Given the description of an element on the screen output the (x, y) to click on. 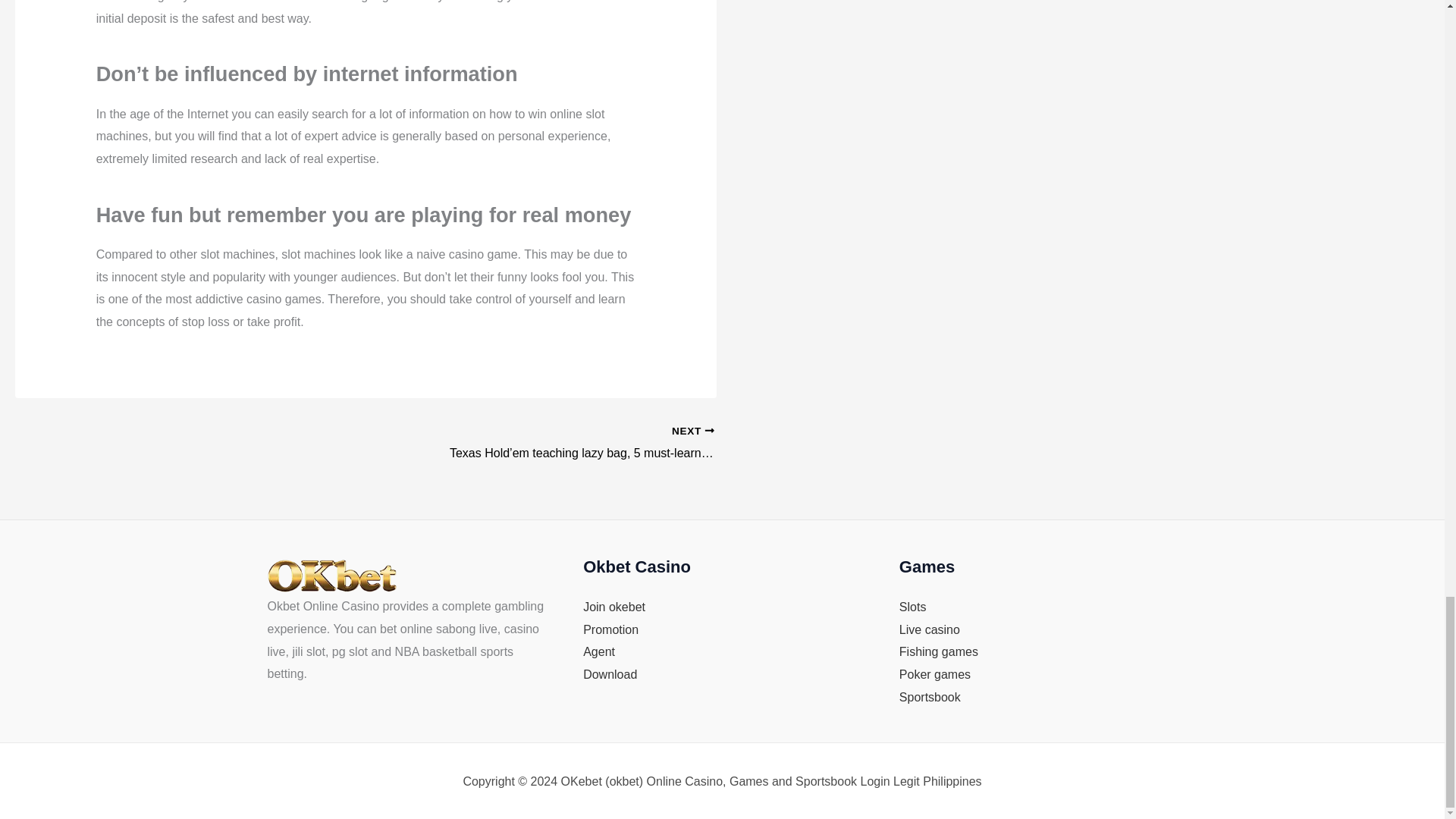
Texas Hold'em teaching lazy bag, 5 must-learn skills (573, 443)
